Given the description of an element on the screen output the (x, y) to click on. 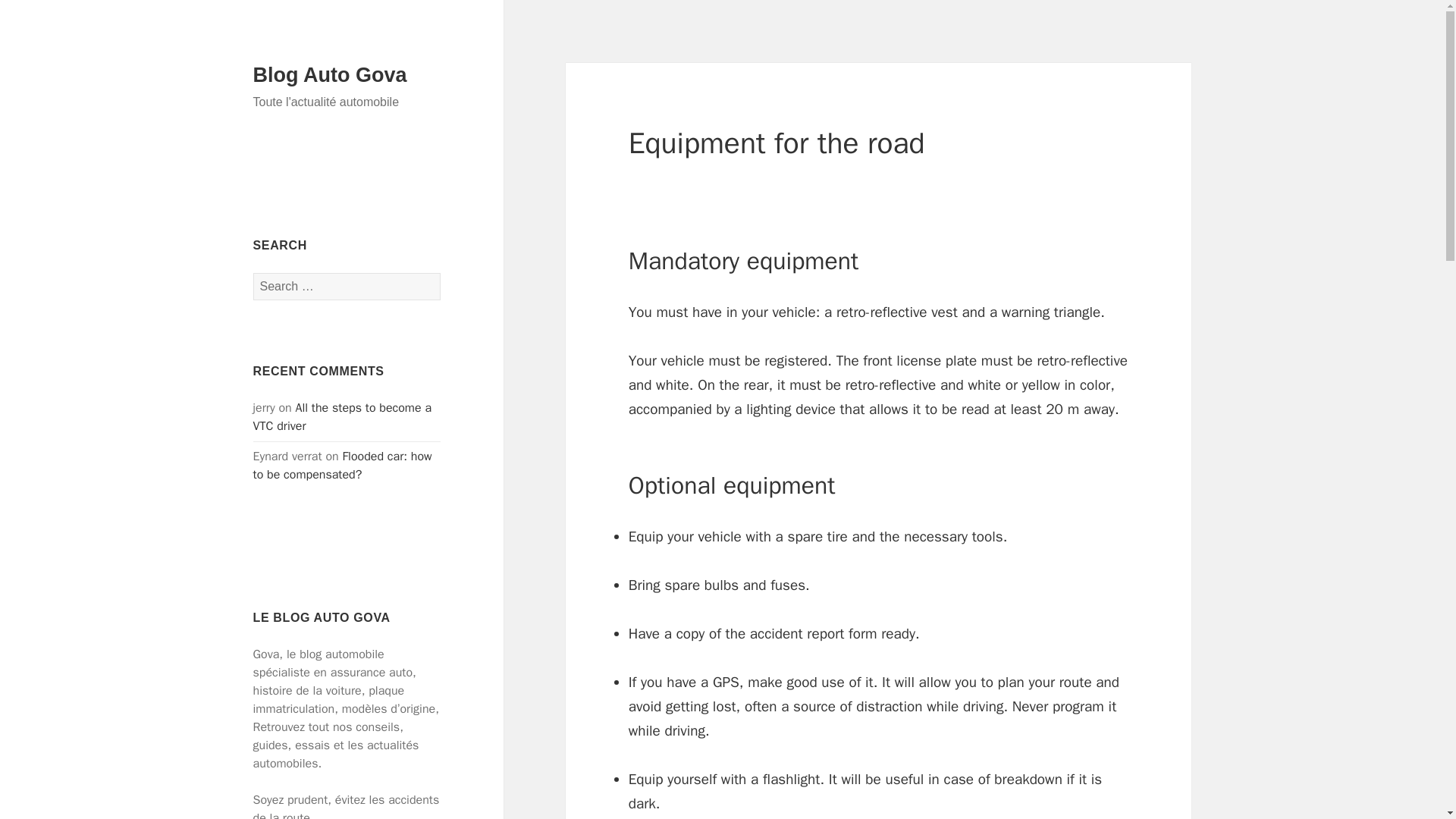
Flooded car: how to be compensated? (342, 465)
Blog Auto Gova (330, 74)
All the steps to become a VTC driver (342, 417)
